Given the description of an element on the screen output the (x, y) to click on. 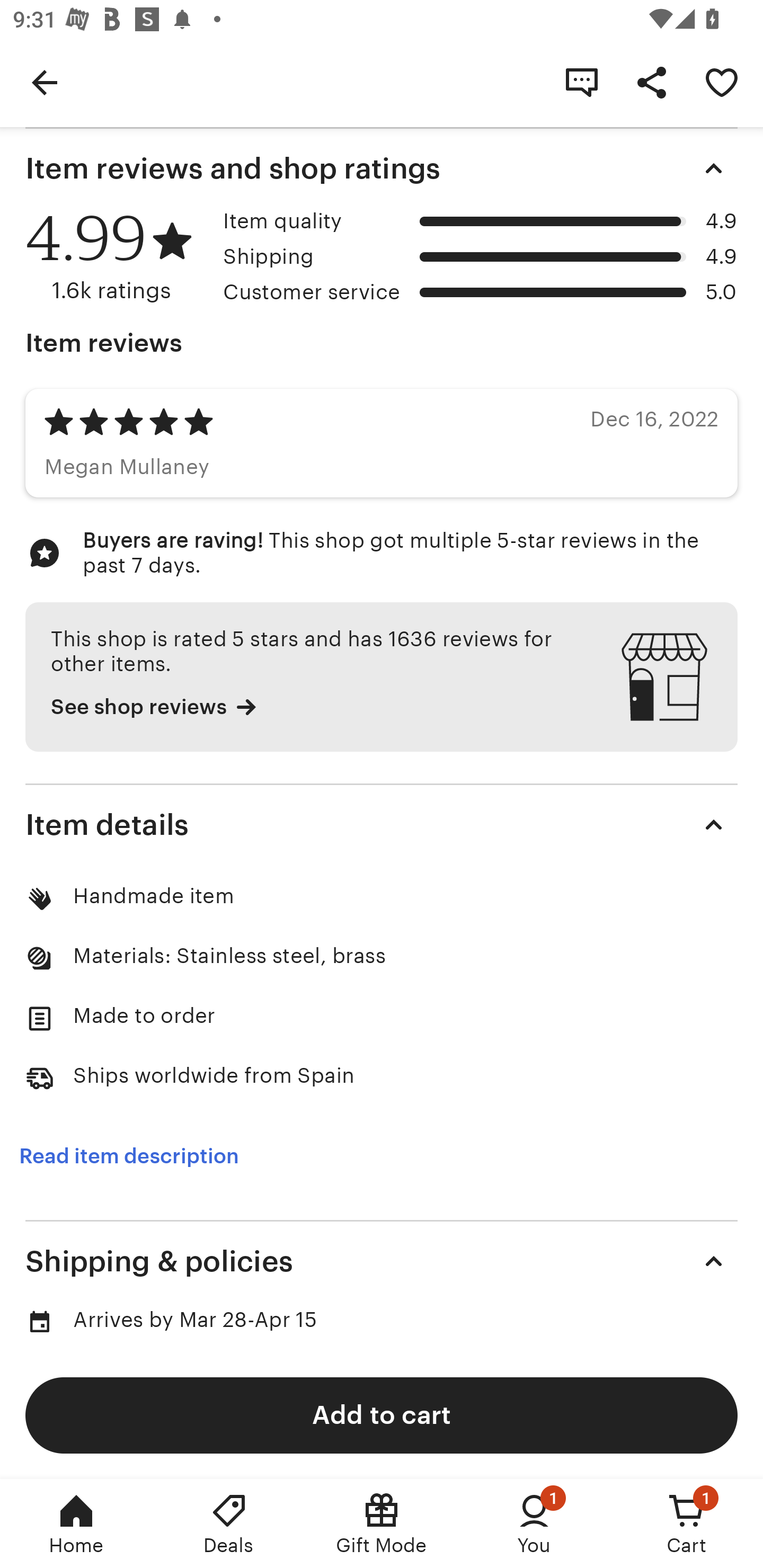
Navigate up (44, 81)
Contact shop (581, 81)
Share (651, 81)
Item reviews and shop ratings (381, 168)
4.99 1.6k ratings (117, 257)
Item details (381, 824)
Read item description (128, 1155)
Shipping & policies (381, 1261)
Add to cart (381, 1414)
Deals (228, 1523)
Gift Mode (381, 1523)
You, 1 new notification You (533, 1523)
Cart, 1 new notification Cart (686, 1523)
